Given the description of an element on the screen output the (x, y) to click on. 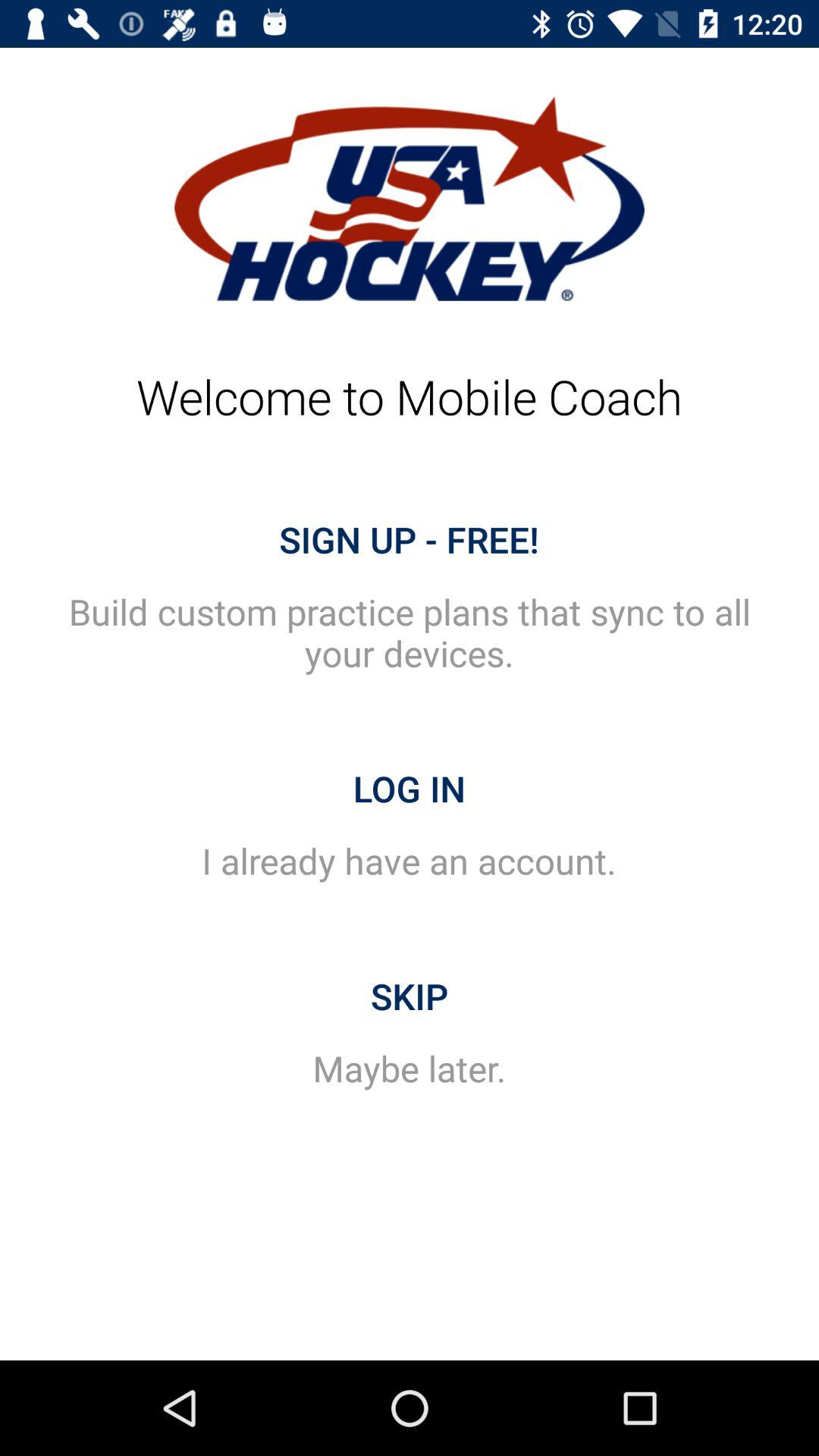
choose icon above build custom practice (409, 539)
